Given the description of an element on the screen output the (x, y) to click on. 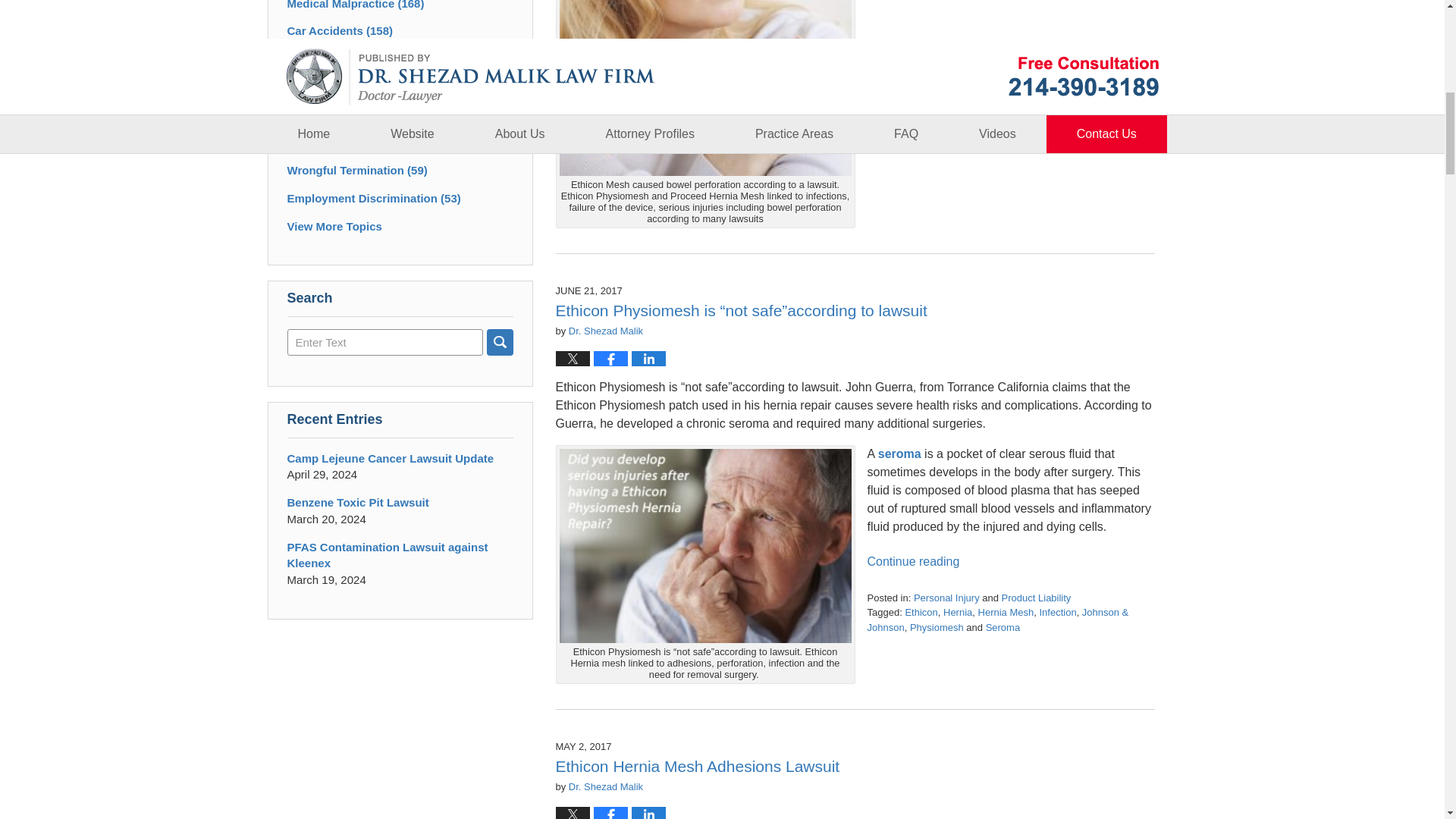
Dr. Shezad Malik (606, 330)
View all posts in Product Liability (1036, 597)
View all posts in Personal Injury (946, 597)
View all posts tagged with Hernia Mesh (1005, 612)
View all posts tagged with Hernia (957, 612)
View all posts tagged with Ethicon (920, 612)
